Given the description of an element on the screen output the (x, y) to click on. 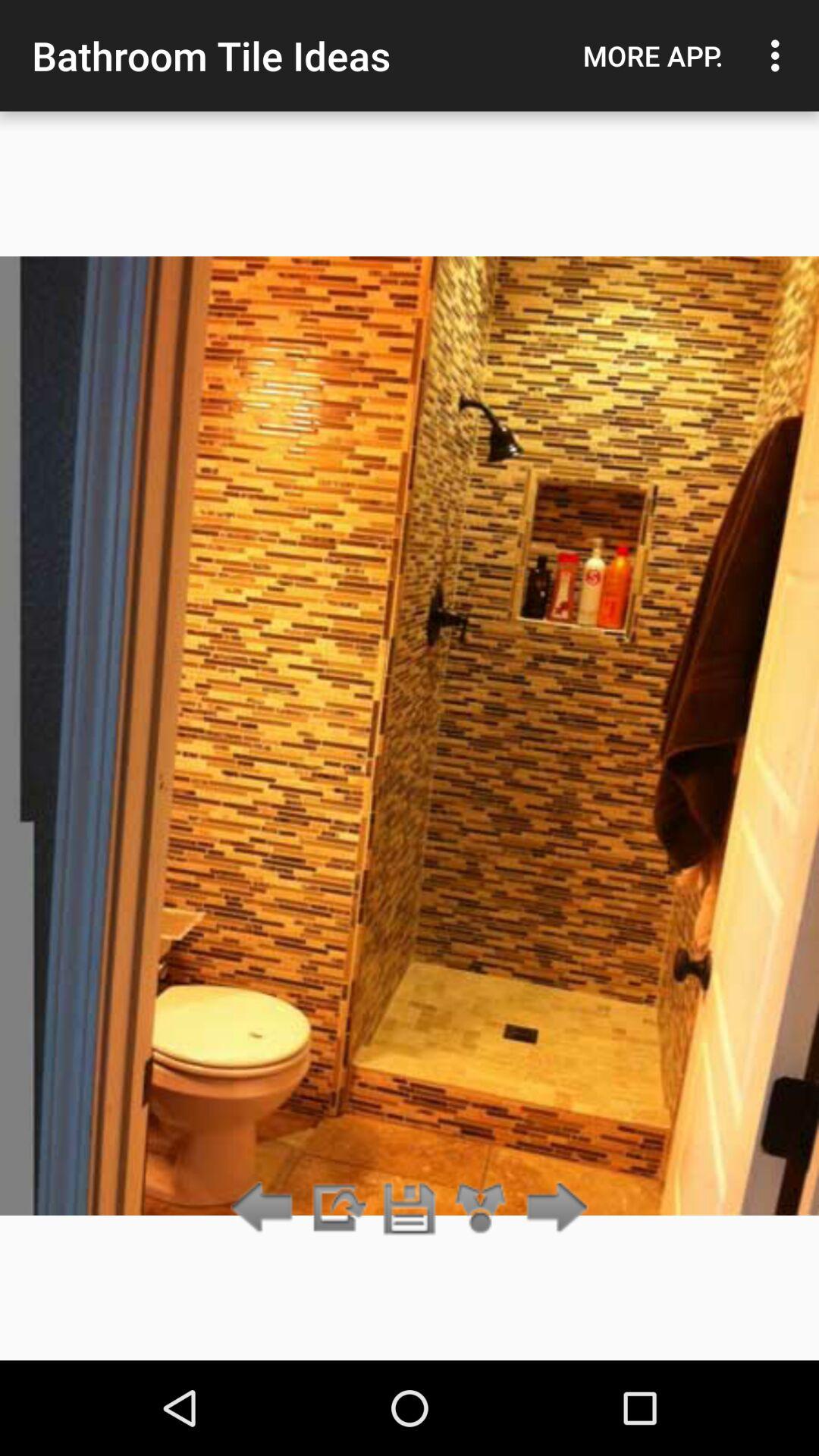
go back option (266, 1209)
